Given the description of an element on the screen output the (x, y) to click on. 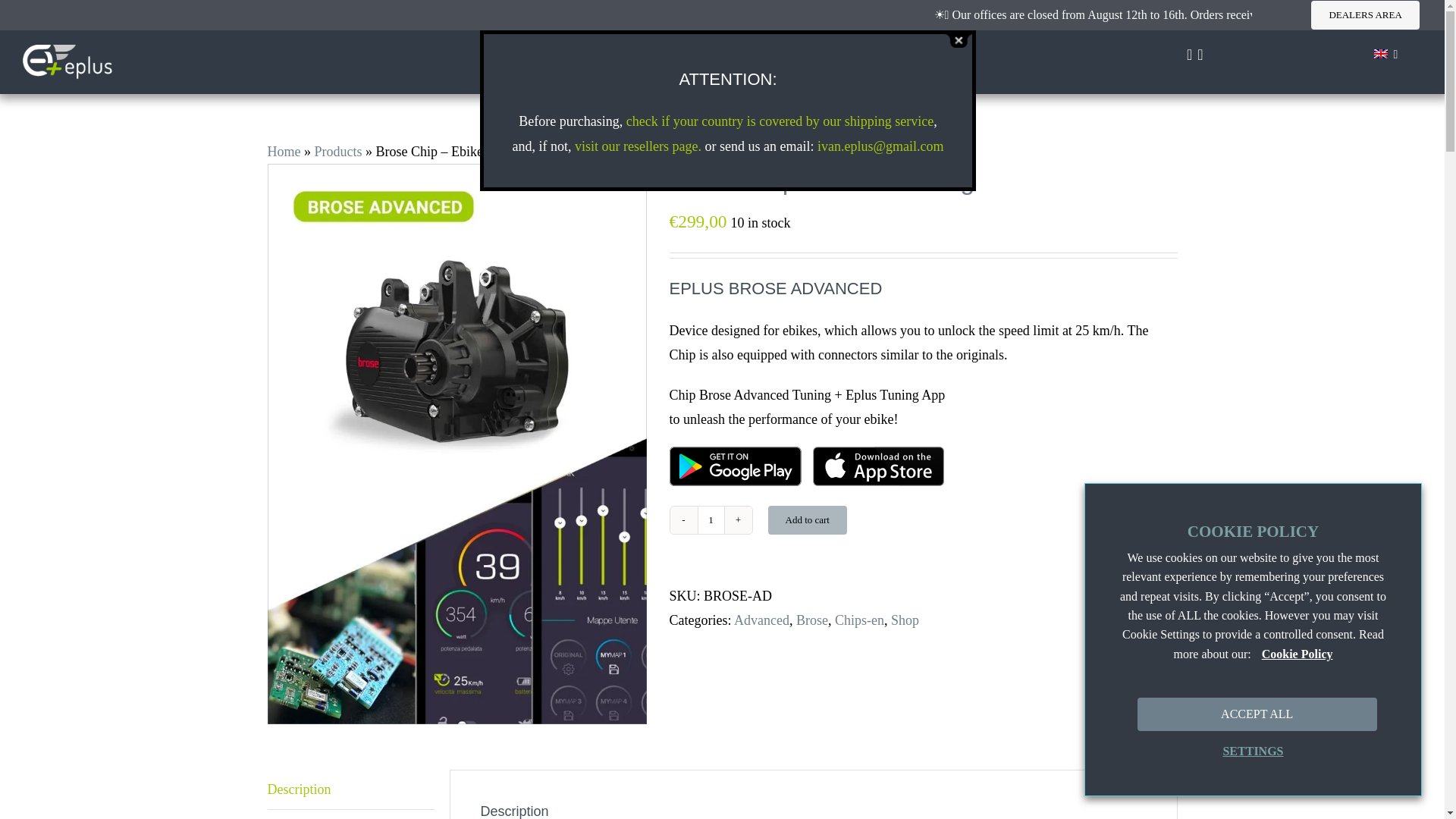
PRODUCTS (664, 62)
DEALERS AREA (1364, 14)
SUPPORT (759, 62)
1 (711, 519)
- (683, 519)
CONTACTS (854, 62)
Close (957, 40)
Log In (1354, 228)
